Given the description of an element on the screen output the (x, y) to click on. 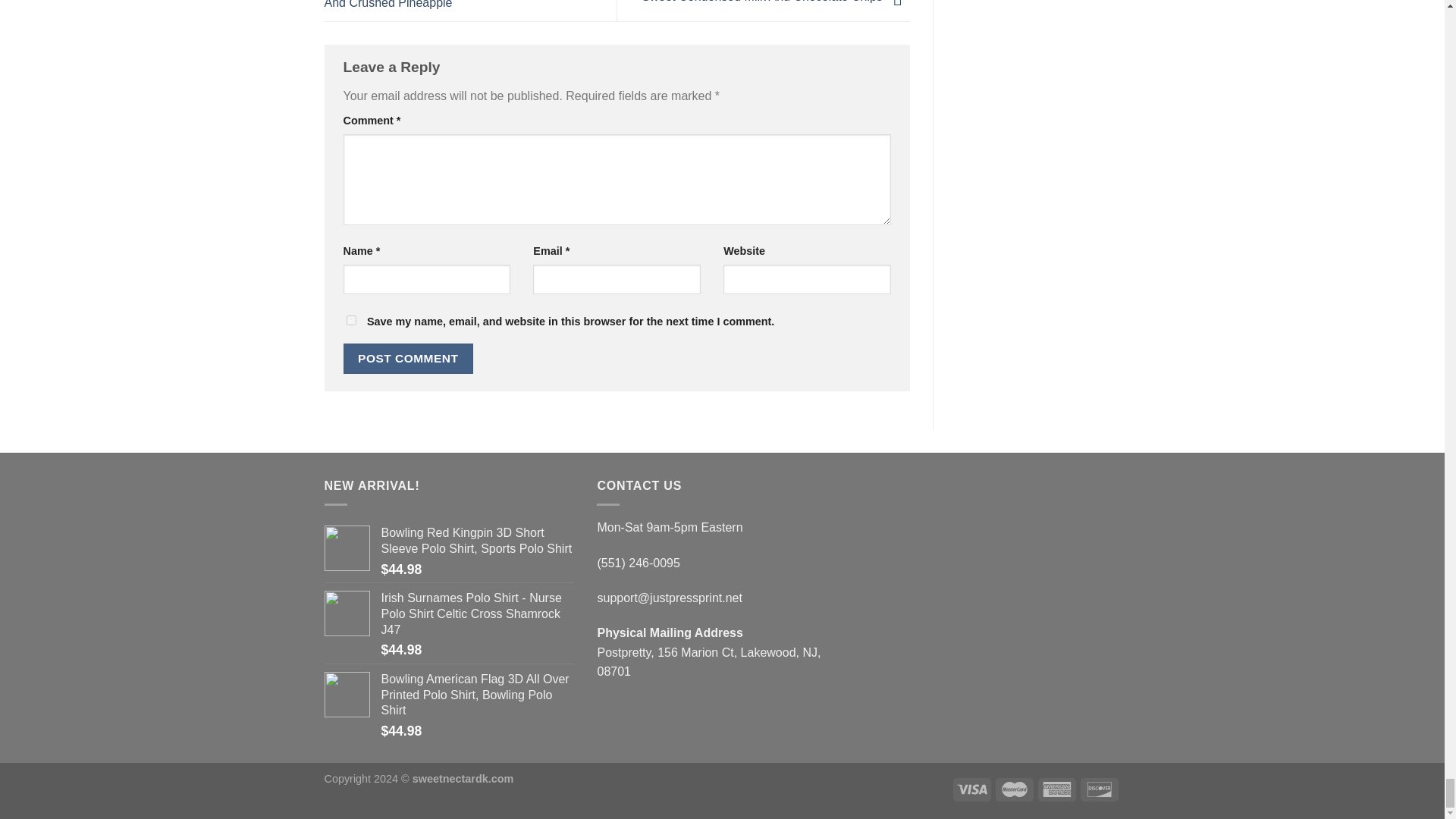
Post Comment (407, 358)
Post Comment (407, 358)
yes (350, 320)
